Given the description of an element on the screen output the (x, y) to click on. 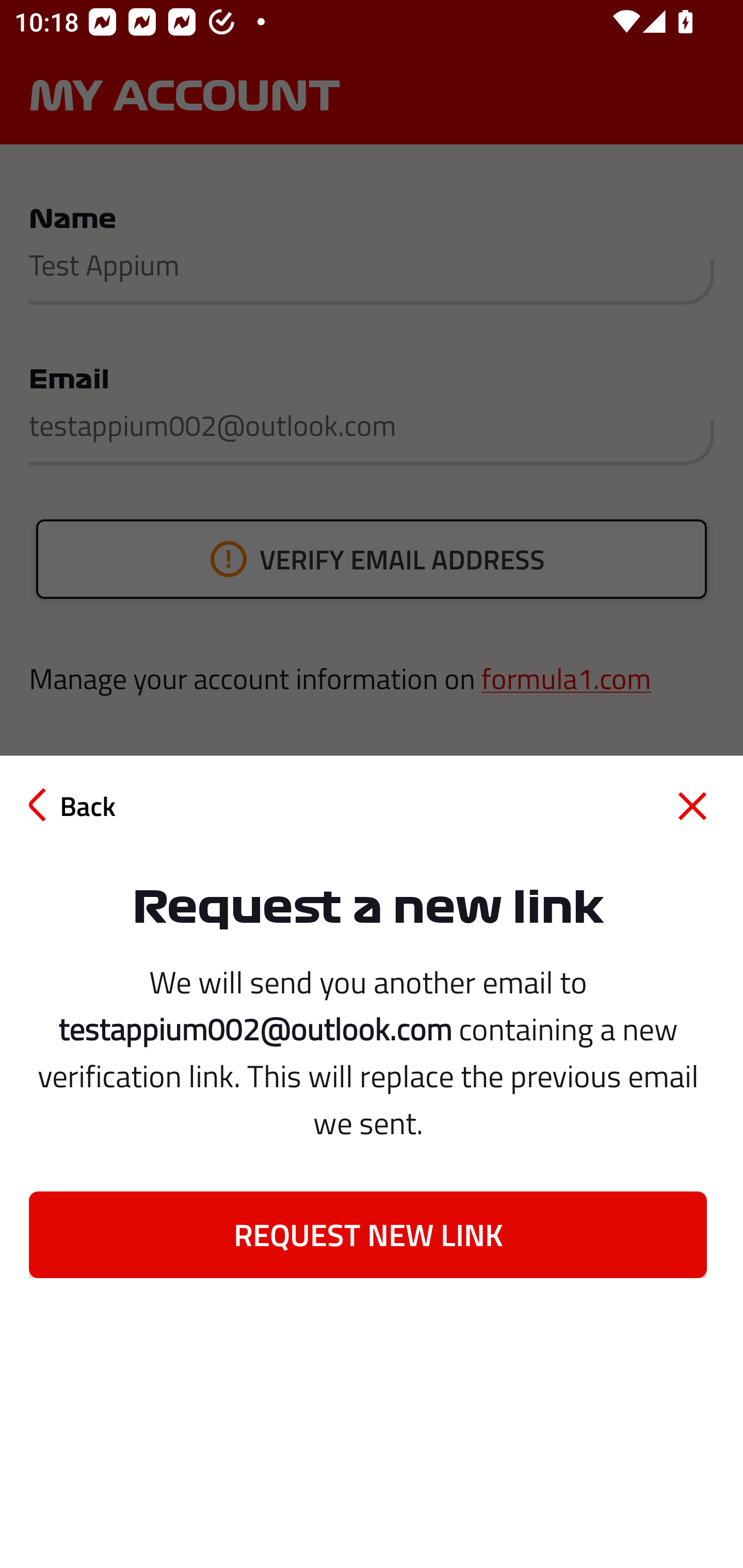
Back (71, 805)
REQUEST NEW LINK (367, 1234)
